Given the description of an element on the screen output the (x, y) to click on. 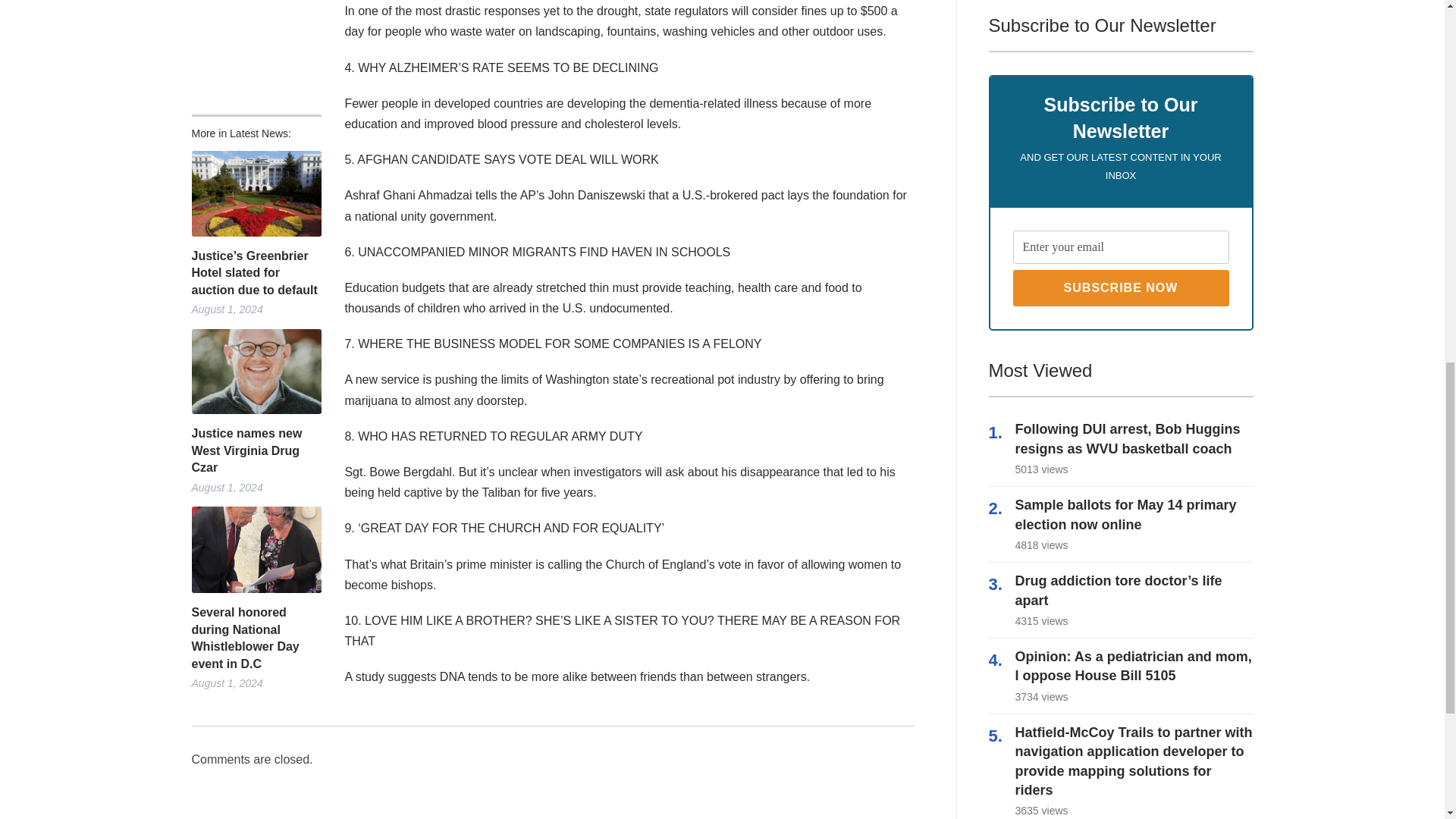
Permalink to Justice names new West Virginia Drug Czar (255, 450)
Permalink to Justice names new West Virginia Drug Czar (255, 371)
Subscribe Now (1120, 288)
